Given the description of an element on the screen output the (x, y) to click on. 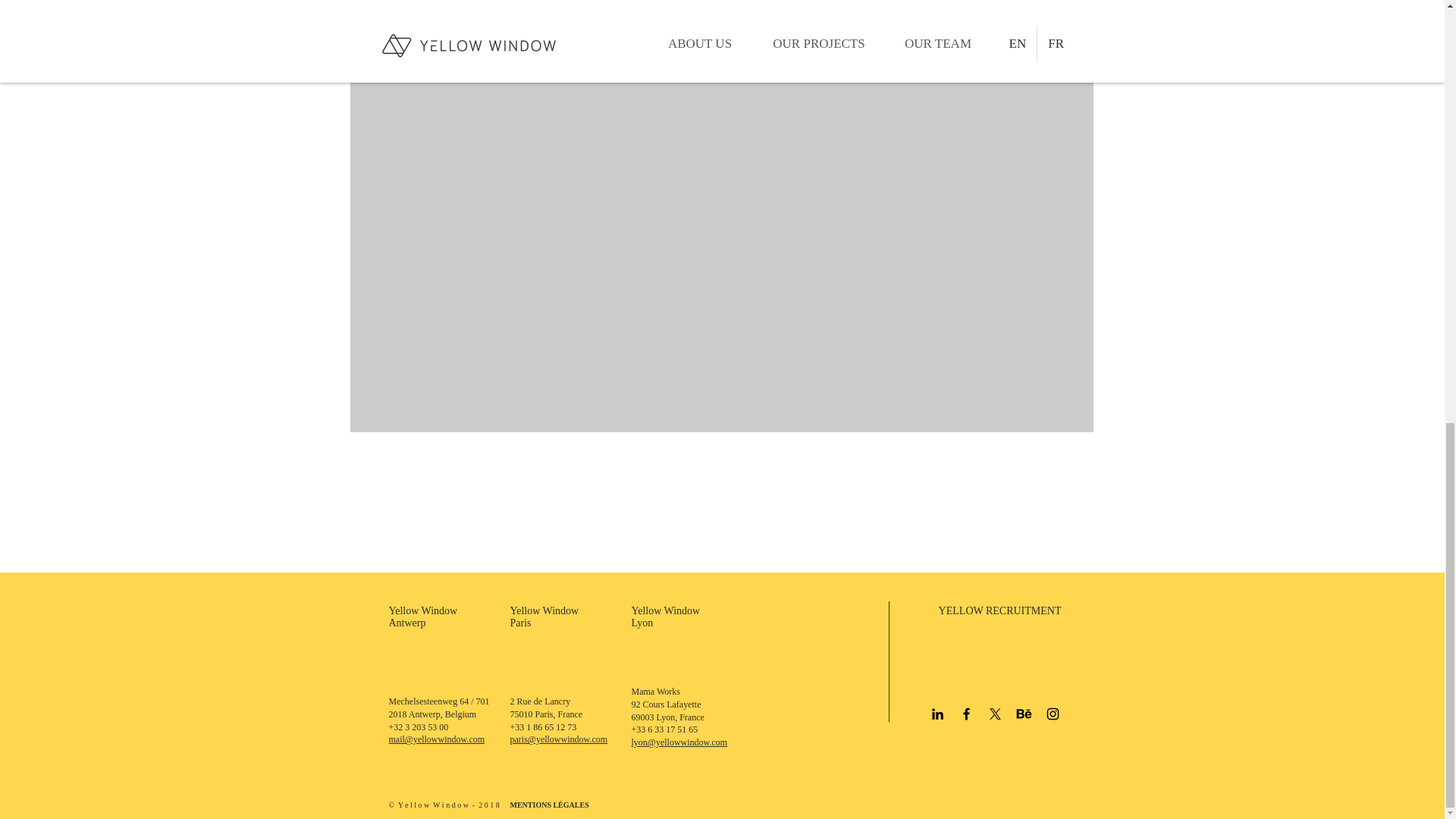
2 Rue de Lancry (539, 701)
92 Cours Lafayette (665, 704)
YELLOW RECRUITMENT (1000, 610)
